Given the description of an element on the screen output the (x, y) to click on. 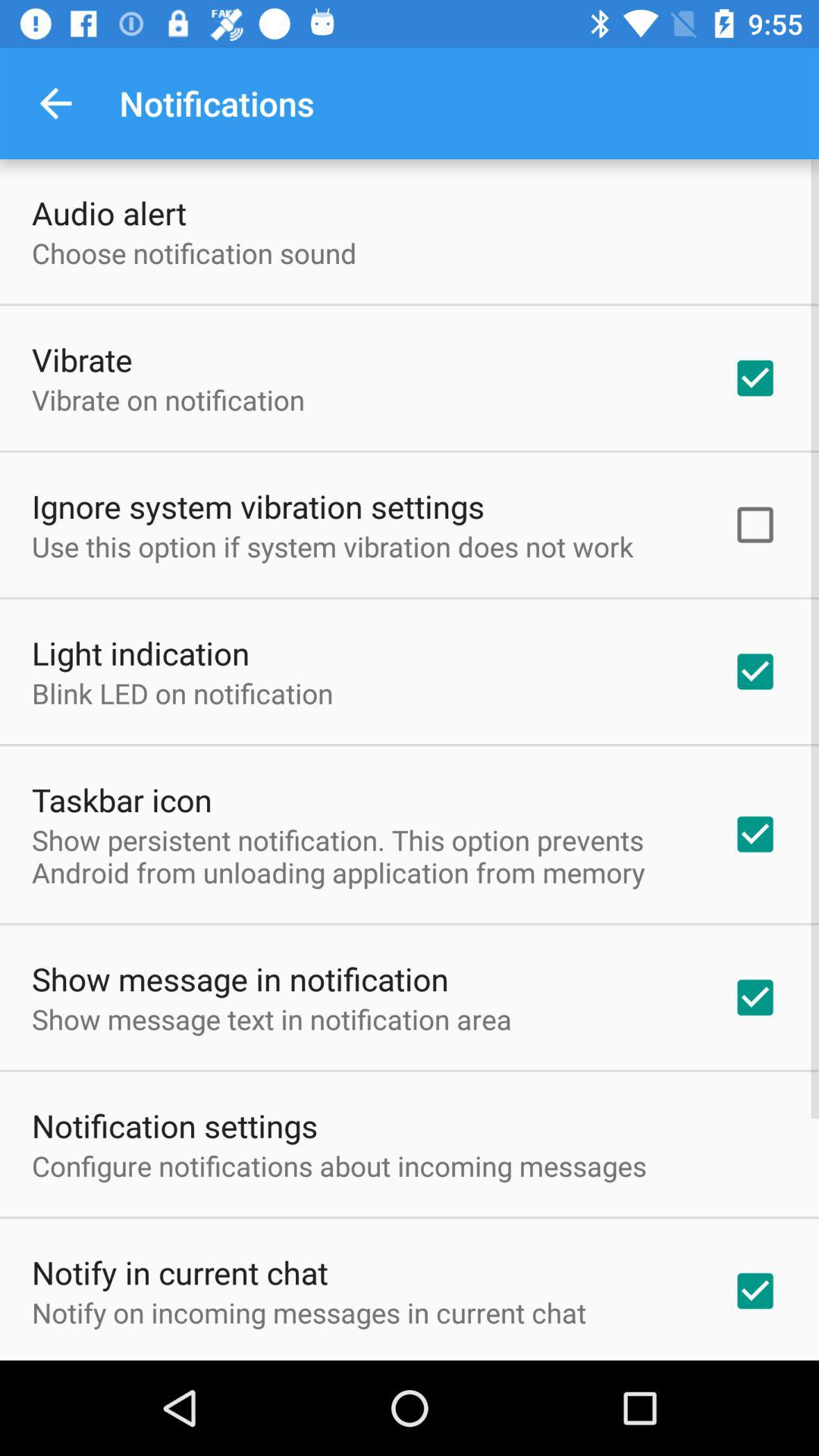
tap taskbar icon icon (121, 799)
